Given the description of an element on the screen output the (x, y) to click on. 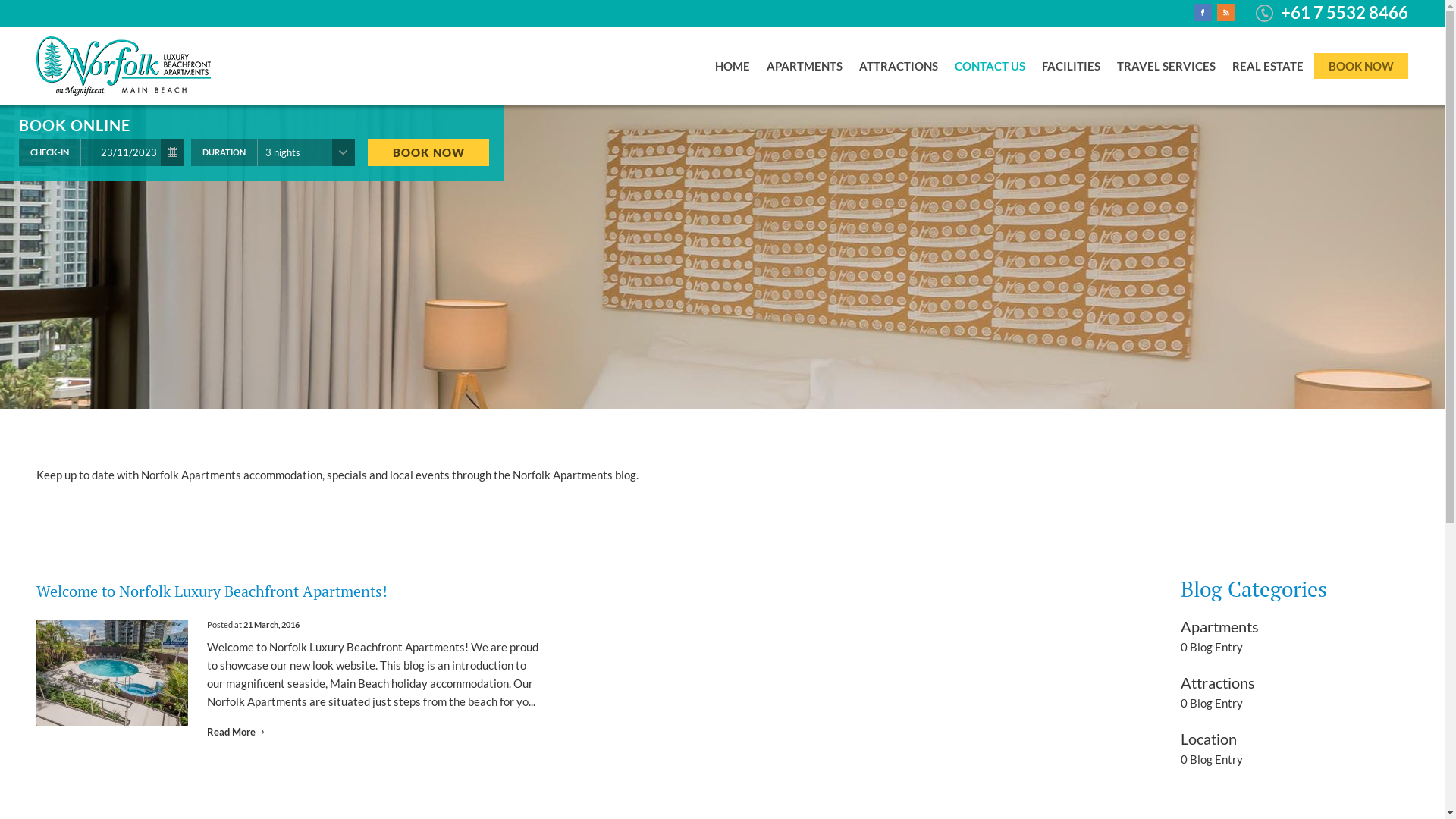
Read More Element type: text (235, 731)
REAL ESTATE Element type: text (1267, 65)
Attractions Element type: text (1217, 682)
Norfolk 17 Element type: hover (112, 672)
ATTRACTIONS Element type: text (898, 65)
APARTMENTS Element type: text (804, 65)
HOME Element type: text (732, 65)
Welcome to Norfolk Luxury Beachfront Apartments! Element type: text (211, 590)
... Element type: hover (172, 151)
Book Now Element type: text (428, 152)
Apartments Element type: text (1219, 626)
Location Element type: text (1208, 738)
FACILITIES Element type: text (1070, 65)
BOOK NOW Element type: text (1361, 65)
CONTACT US Element type: text (989, 65)
TRAVEL SERVICES Element type: text (1166, 65)
